Given the description of an element on the screen output the (x, y) to click on. 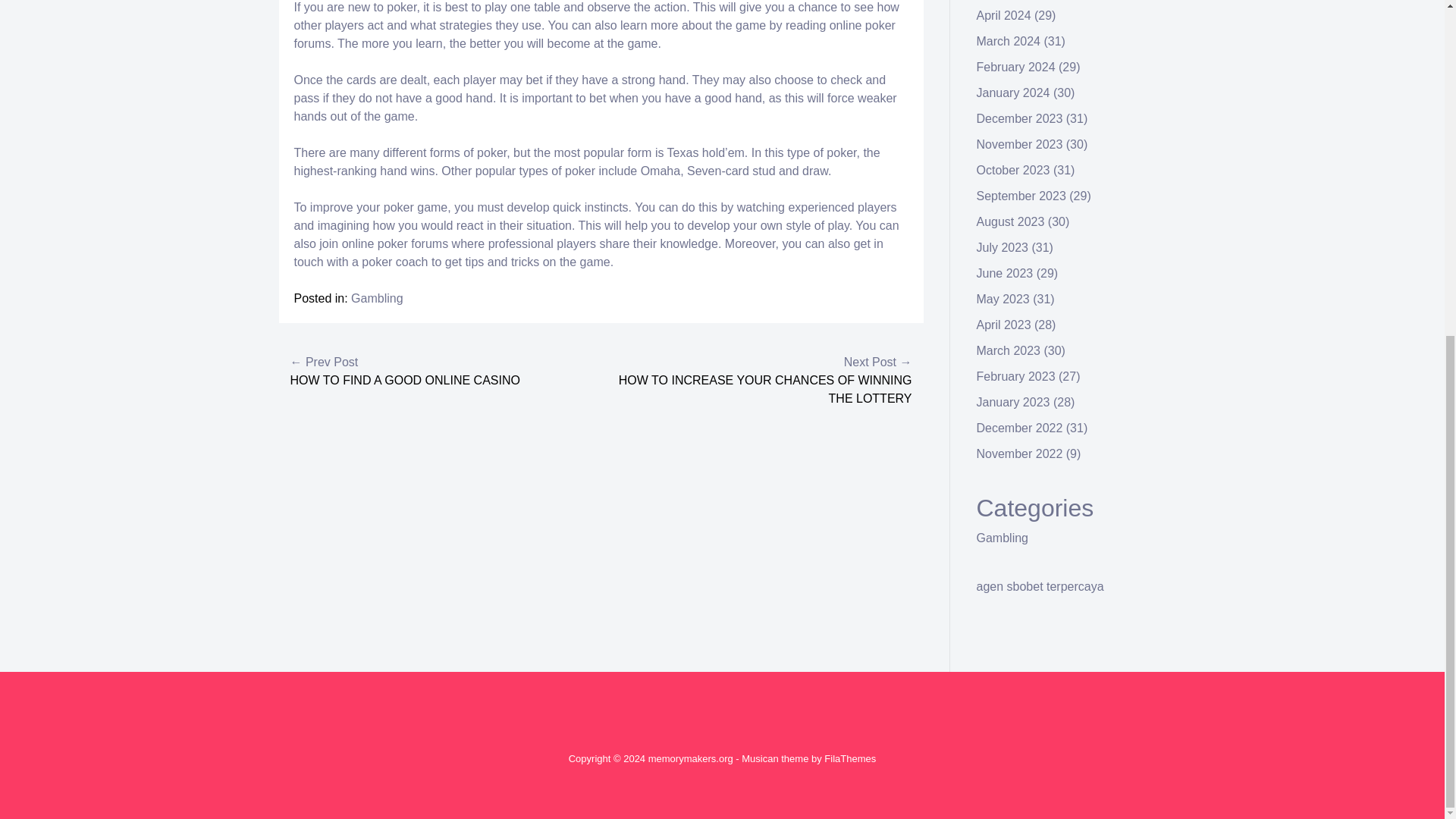
August 2023 (1010, 221)
memorymakers.org (690, 758)
memorymakers.org (690, 758)
January 2024 (1012, 92)
September 2023 (1020, 195)
April 2023 (1003, 324)
December 2022 (1019, 427)
February 2024 (1015, 66)
FilaThemes (850, 758)
agen sbobet terpercaya (1039, 585)
January 2023 (1012, 401)
March 2024 (1008, 41)
July 2023 (1002, 246)
March 2023 (1008, 350)
February 2023 (1015, 376)
